Given the description of an element on the screen output the (x, y) to click on. 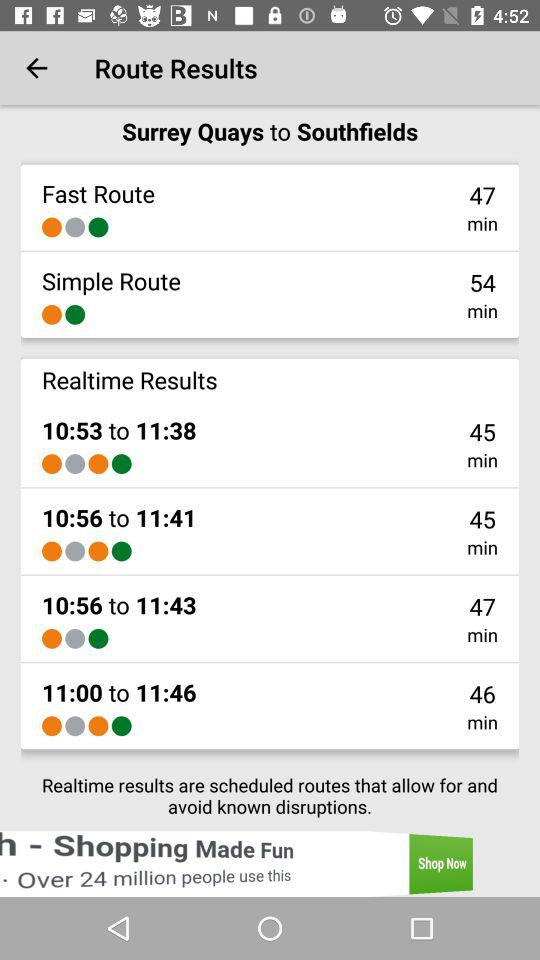
click the icon next to the min icon (121, 464)
